Given the description of an element on the screen output the (x, y) to click on. 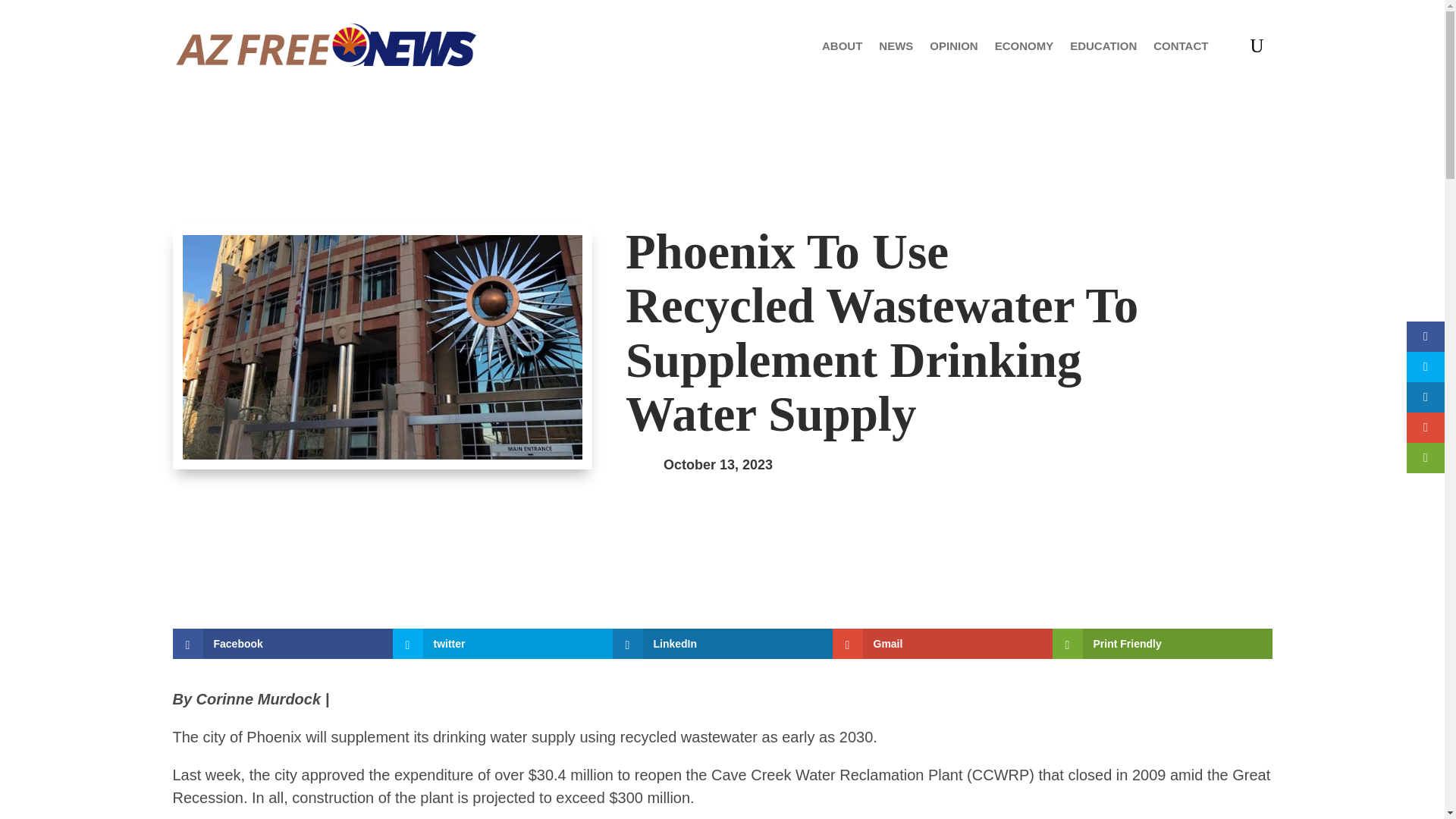
LinkedIn (722, 643)
EDUCATION (1103, 46)
Facebook (283, 643)
twitter (502, 643)
ECONOMY (1024, 46)
Gmail (942, 643)
CONTACT (1180, 46)
Print Friendly (1162, 643)
